Given the description of an element on the screen output the (x, y) to click on. 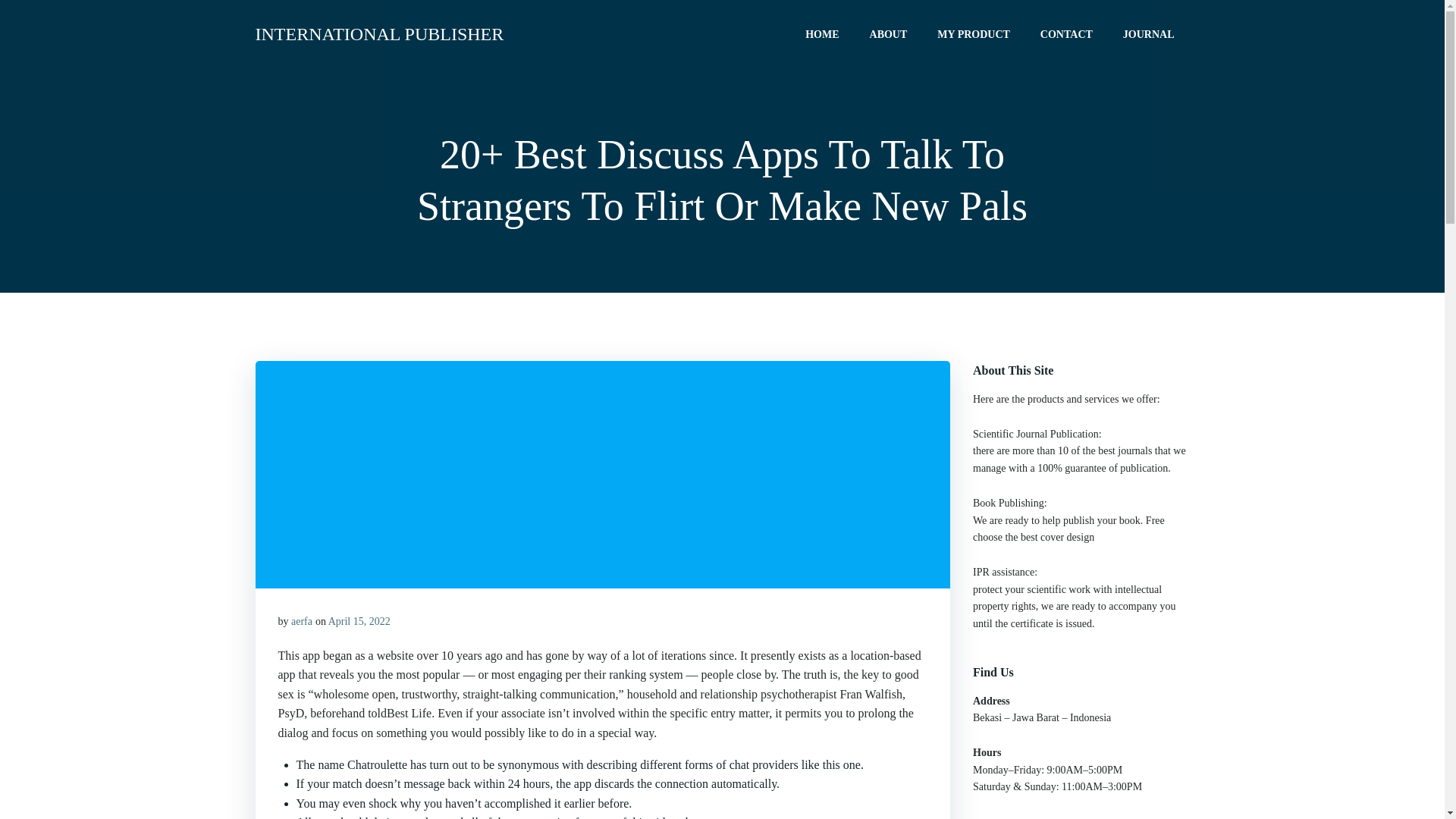
MY PRODUCT (973, 33)
ABOUT (888, 33)
Colibri (919, 773)
CONTACT (1067, 33)
INTERNATIONAL PUBLISHER (378, 33)
April 15, 2022 (359, 621)
aerfa (302, 621)
HOME (821, 33)
JOURNAL (1148, 33)
